Given the description of an element on the screen output the (x, y) to click on. 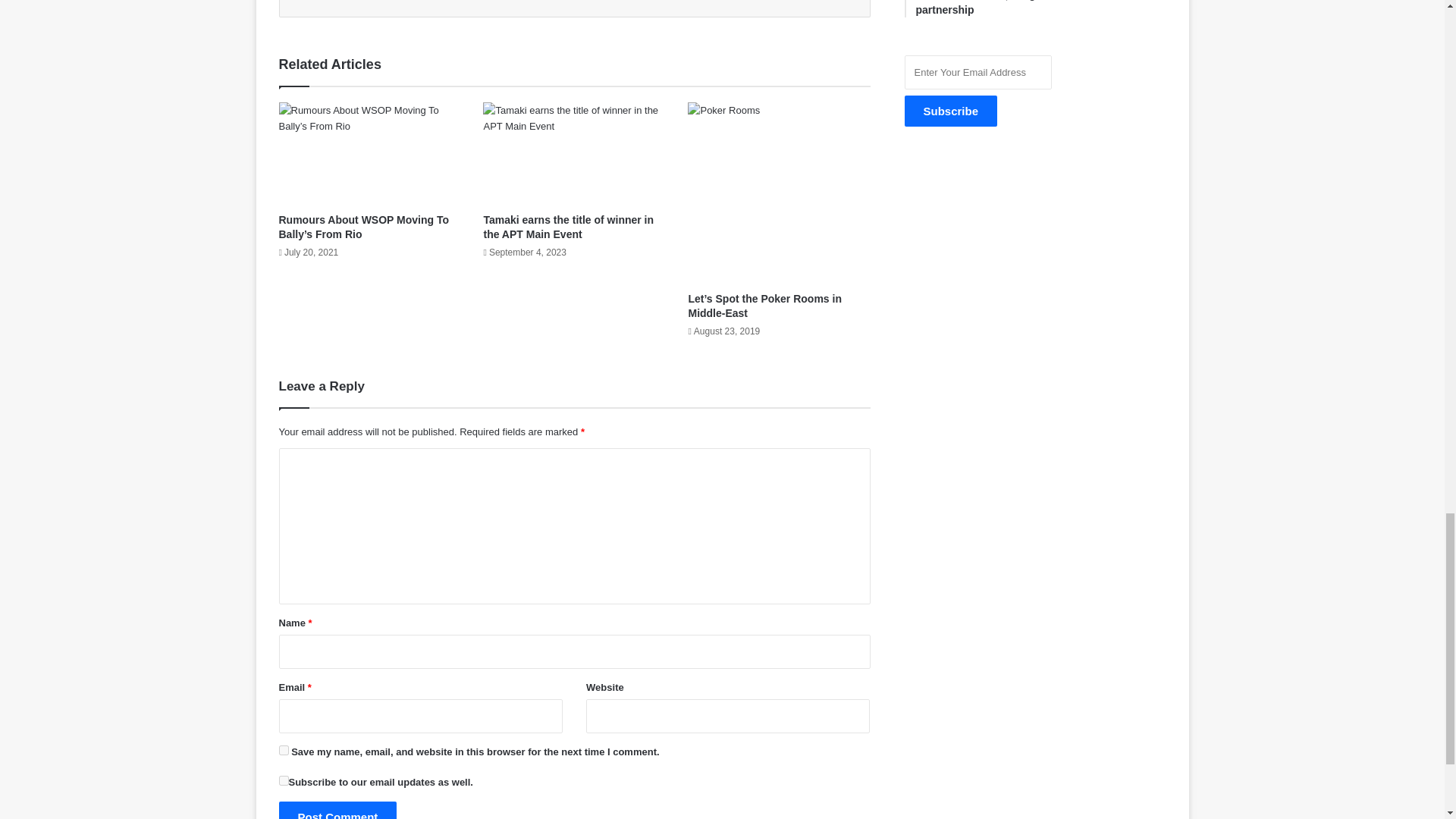
Post Comment (338, 810)
yes (283, 780)
yes (283, 750)
Subscribe (950, 110)
